Given the description of an element on the screen output the (x, y) to click on. 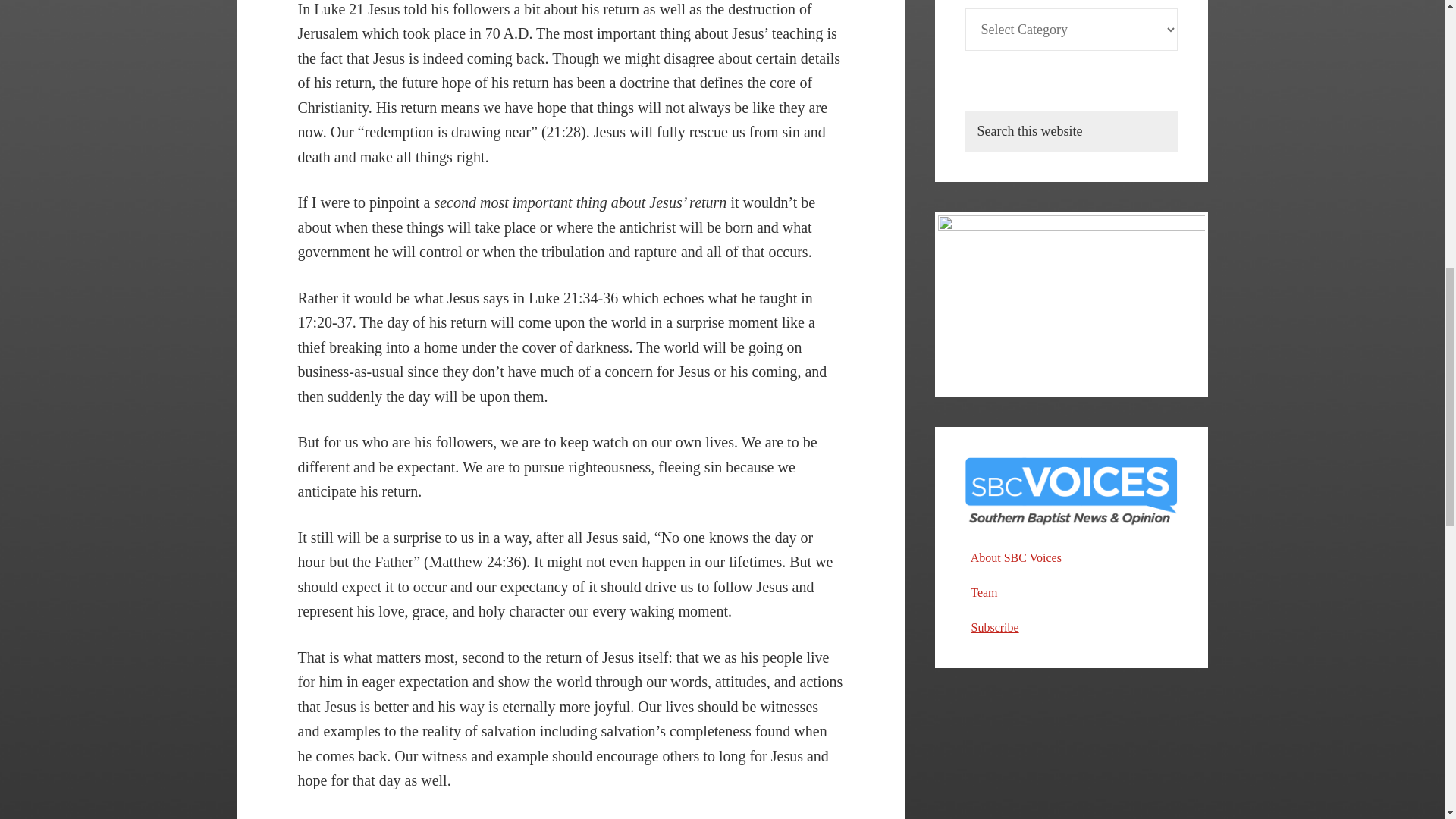
Subscribe (994, 626)
Team (984, 592)
About SBC Voices (1016, 557)
